Given the description of an element on the screen output the (x, y) to click on. 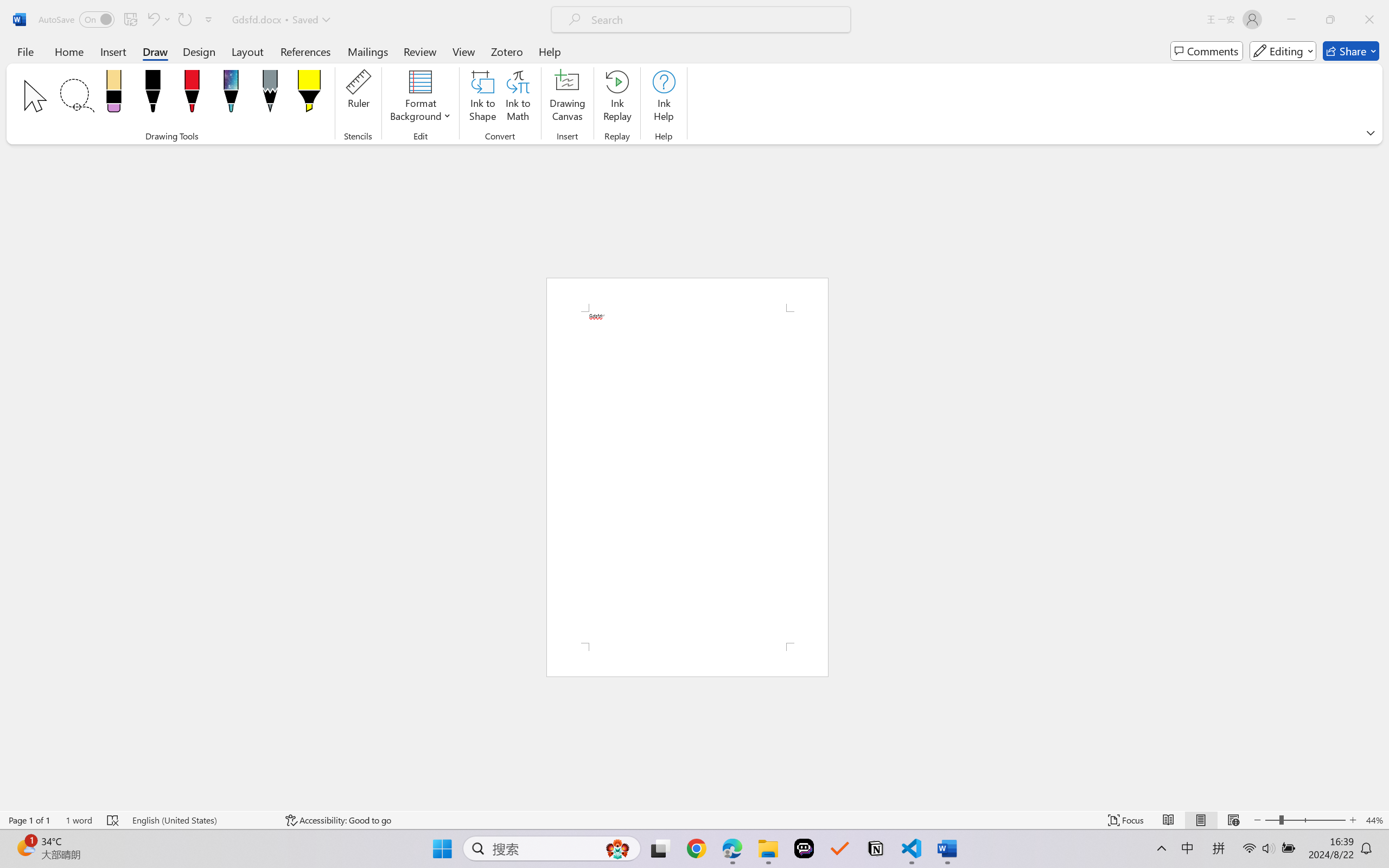
Can't Repeat (184, 19)
Google Chrome (696, 848)
Pen: Red, 0.5 mm (191, 94)
Drawing Canvas (567, 97)
Page 1 content (686, 477)
